Given the description of an element on the screen output the (x, y) to click on. 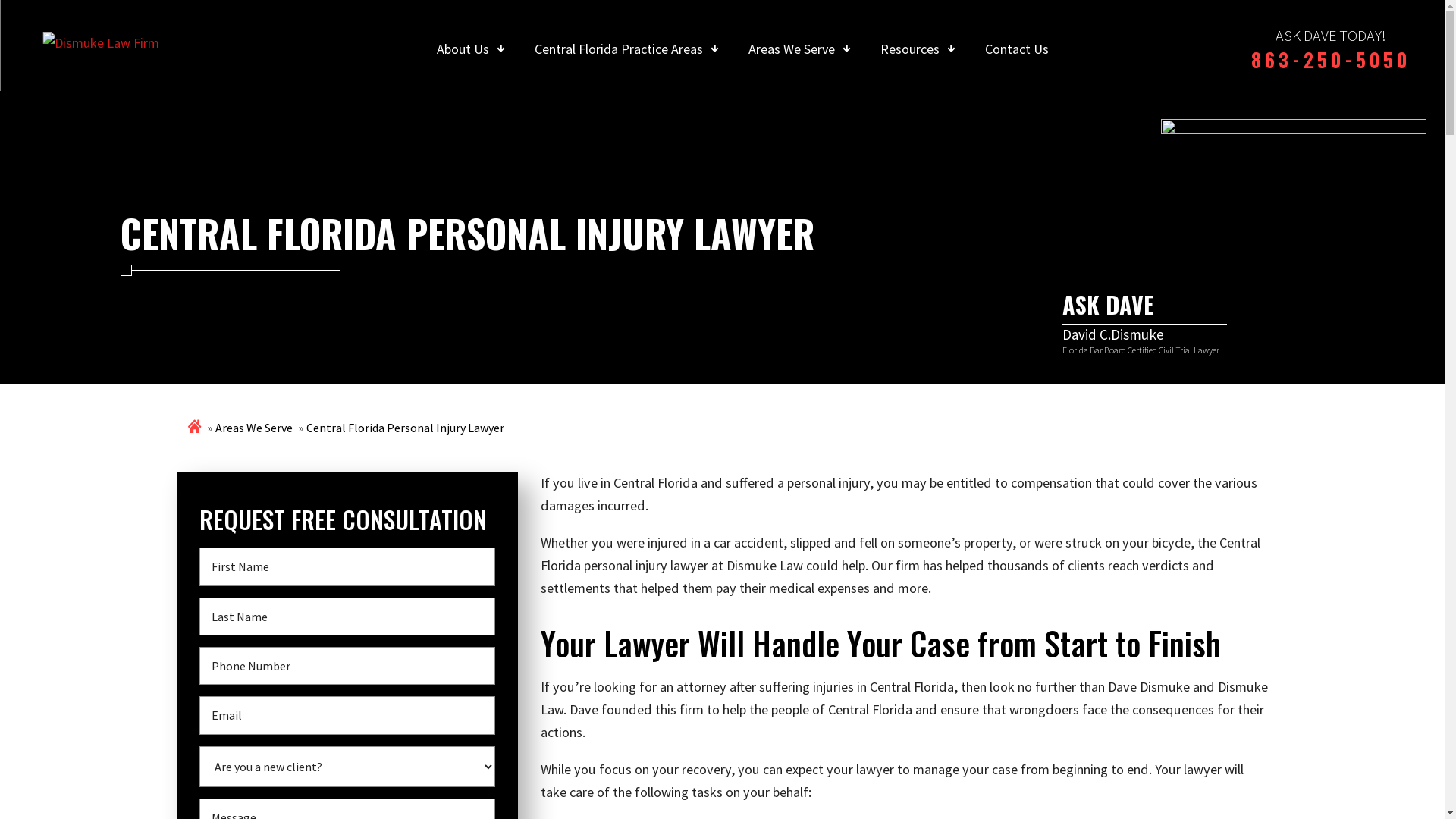
Central Florida Practice Areas Element type: text (618, 48)
Resources Element type: text (909, 48)
About Us Element type: text (462, 48)
863-250-5050 Element type: text (1330, 59)
Dismuke Law Firm Element type: hover (100, 42)
Areas We Serve Element type: text (253, 427)
Contact Us Element type: text (1016, 48)
Central Florida Personal Injury Lawyer Element type: text (405, 427)
Areas We Serve Element type: text (791, 48)
Dismuke Law Firm Element type: hover (100, 42)
